Given the description of an element on the screen output the (x, y) to click on. 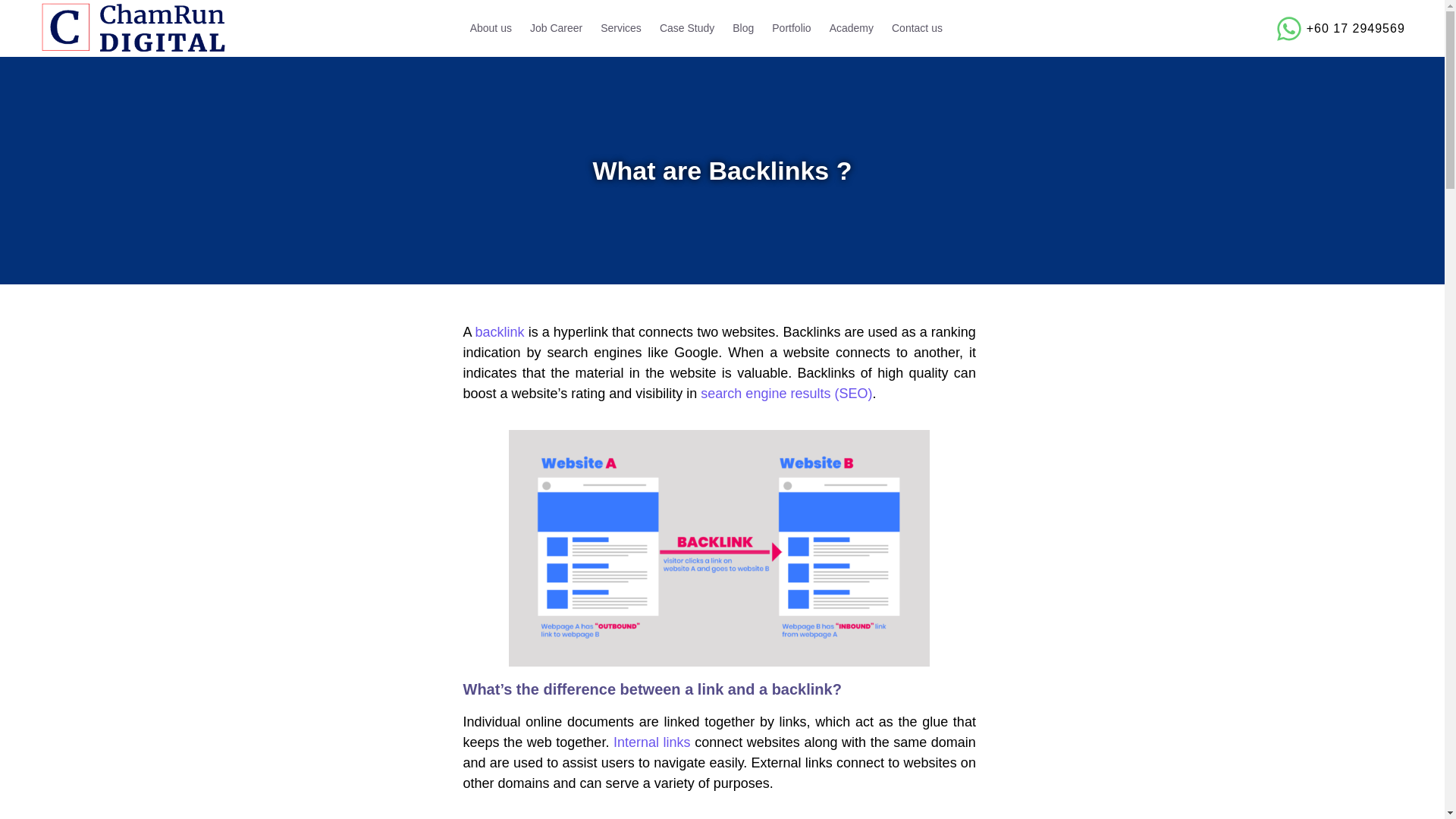
Case Study (686, 28)
Portfolio (790, 28)
Academy (851, 28)
Contact us (917, 28)
Job Career (556, 28)
Services (620, 28)
About us (491, 28)
